Given the description of an element on the screen output the (x, y) to click on. 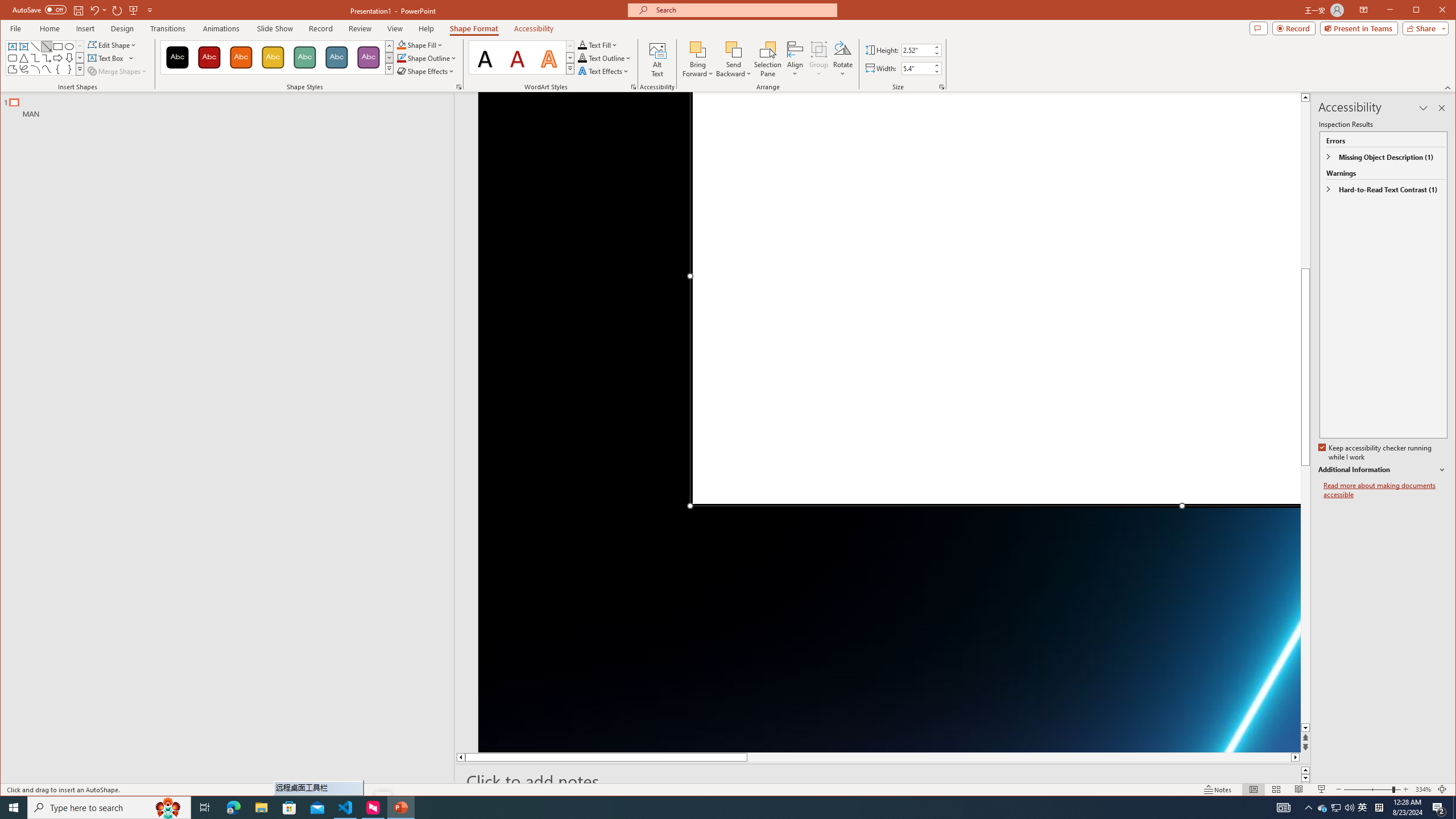
Additional Information (1382, 469)
Format Object... (458, 86)
Text Box (110, 57)
Connector: Elbow (34, 57)
Group (818, 59)
Send Backward (733, 59)
Maximize (1432, 11)
Text Effects (603, 70)
Colored Fill - Dark Red, Accent 1 (209, 57)
Action Center, 2 new notifications (1439, 807)
Shape Height (916, 50)
